Given the description of an element on the screen output the (x, y) to click on. 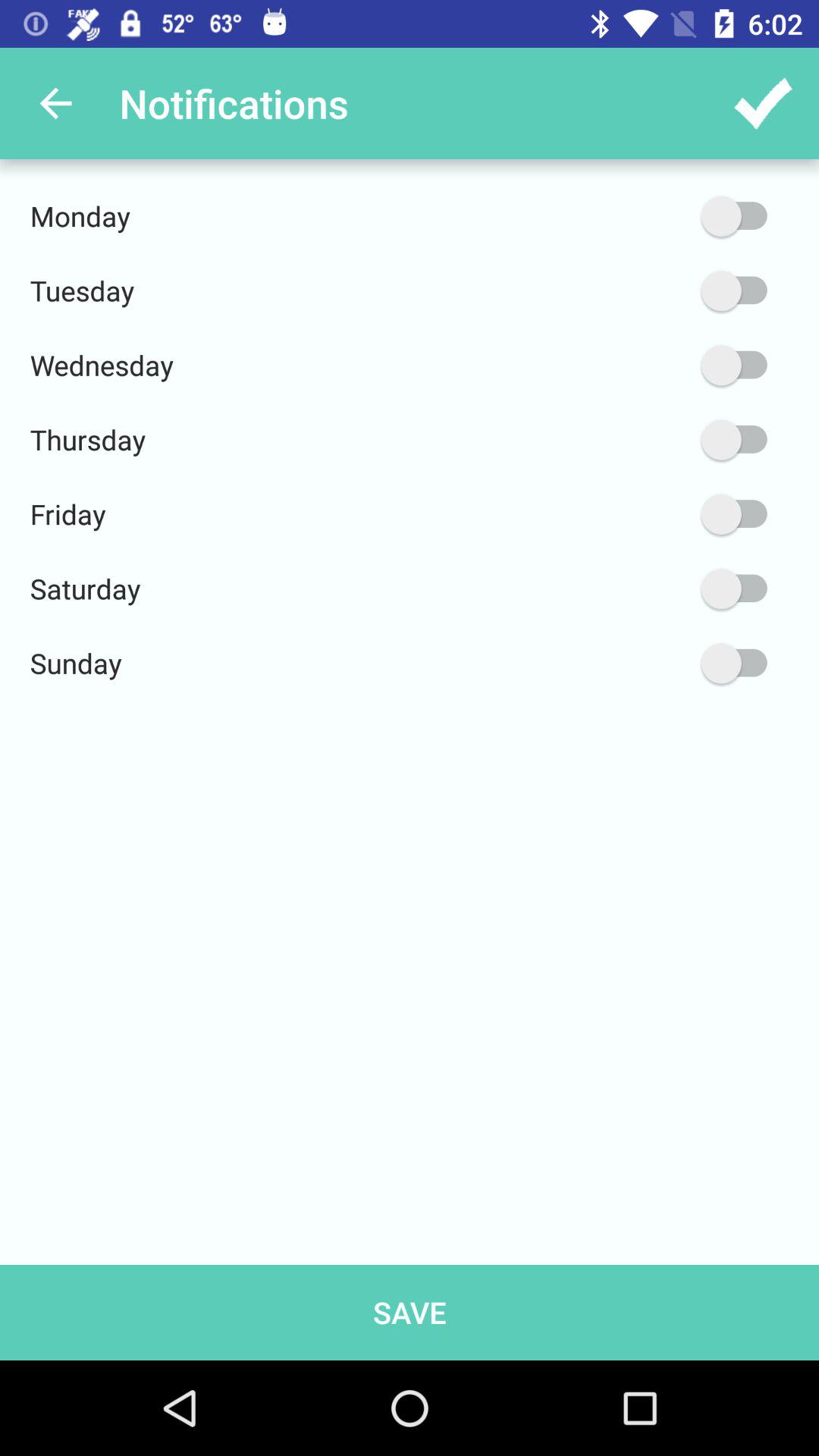
toggle on saturday (661, 588)
